Given the description of an element on the screen output the (x, y) to click on. 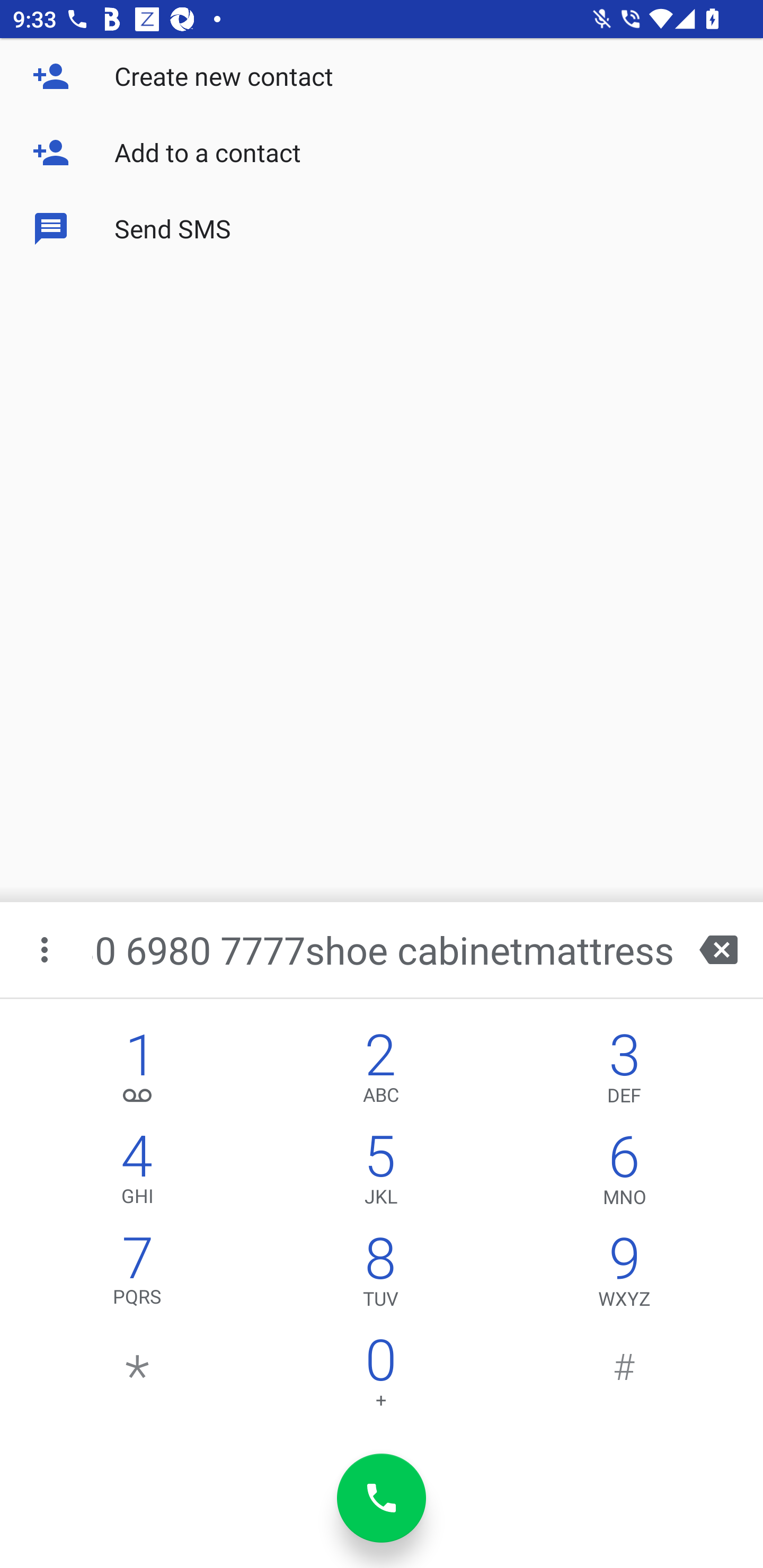
Create new contact (381, 75)
Add to a contact (381, 152)
Send SMS (381, 228)
+91 80 6980 7777shoe cabinetmattress (382, 949)
backspace (718, 949)
More options (45, 949)
1, 1 (137, 1071)
2,ABC 2 ABC (380, 1071)
3,DEF 3 DEF (624, 1071)
4,GHI 4 GHI (137, 1173)
5,JKL 5 JKL (380, 1173)
6,MNO 6 MNO (624, 1173)
7,PQRS 7 PQRS (137, 1275)
8,TUV 8 TUV (380, 1275)
9,WXYZ 9 WXYZ (624, 1275)
* (137, 1377)
0 0 + (380, 1377)
# (624, 1377)
dial (381, 1497)
